Given the description of an element on the screen output the (x, y) to click on. 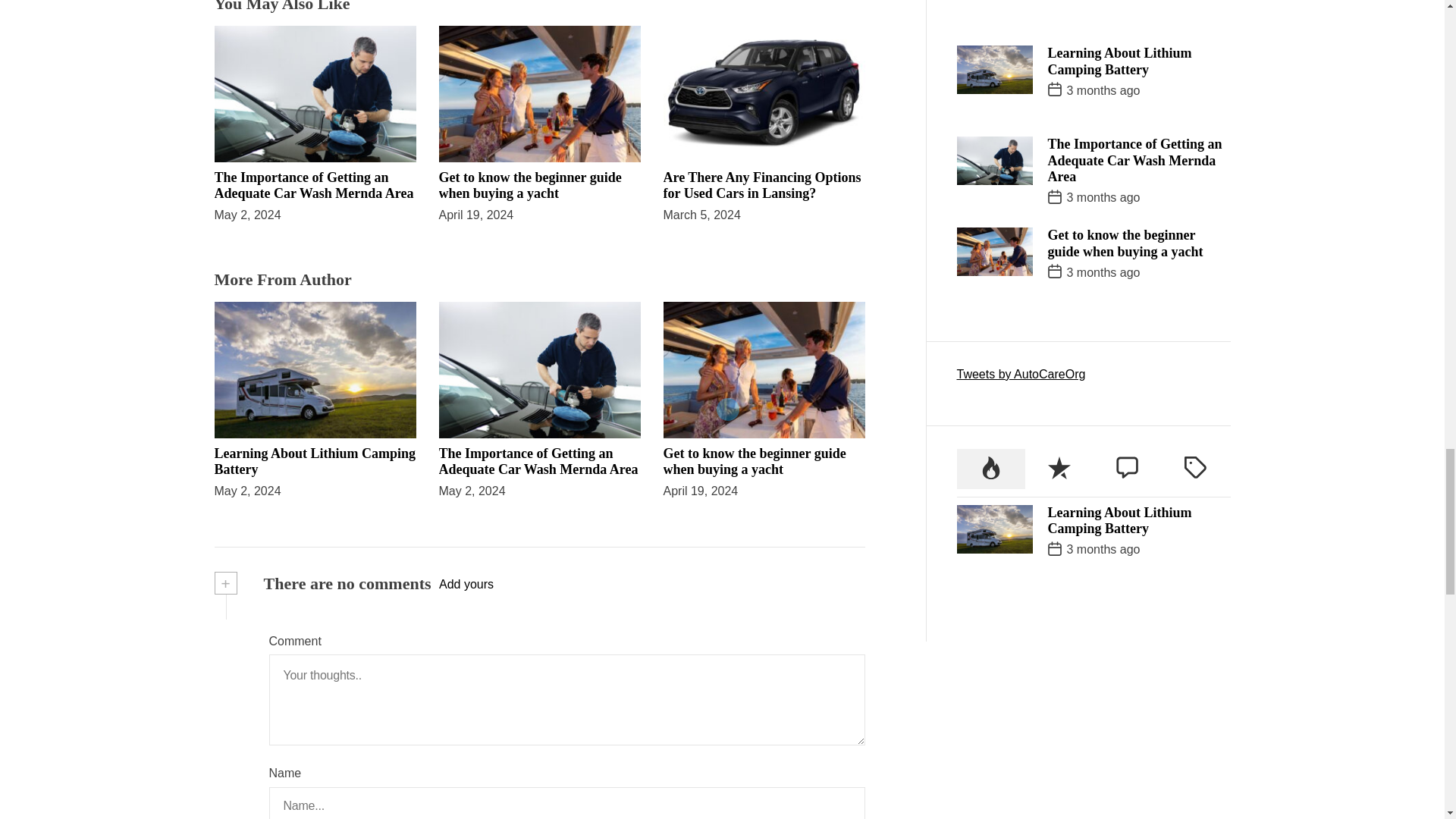
The Importance of Getting an Adequate Car Wash Mernda Area (537, 461)
Get to know the beginner guide when buying a yacht (529, 185)
The Importance of Getting an Adequate Car Wash Mernda Area (313, 185)
Learning About Lithium Camping Battery (314, 461)
Are There Any Financing Options for Used Cars in Lansing? (761, 185)
